Given the description of an element on the screen output the (x, y) to click on. 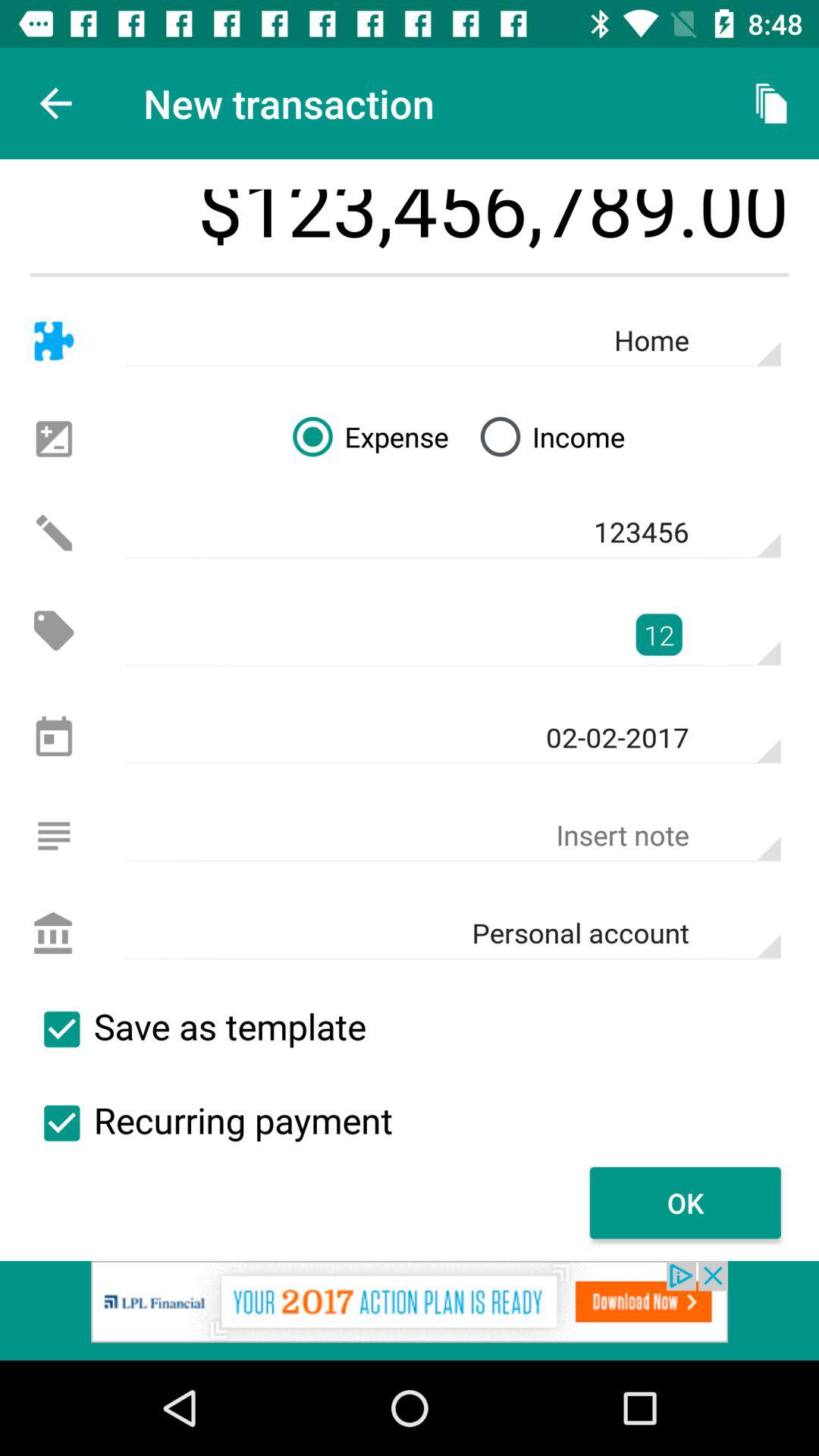
add a note (53, 835)
